Given the description of an element on the screen output the (x, y) to click on. 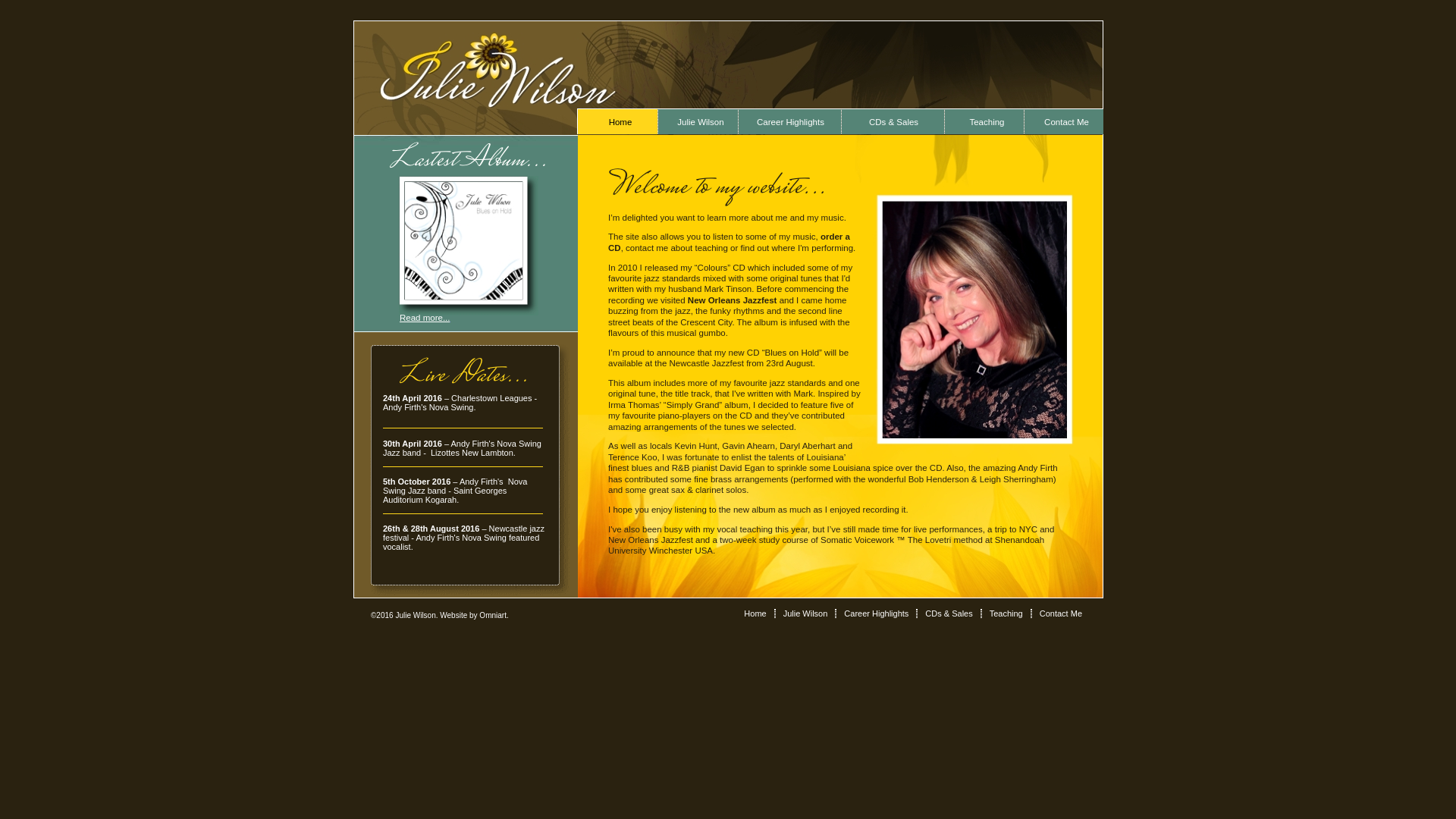
Home Element type: text (754, 613)
Julie Wilson Element type: text (805, 613)
Teaching Element type: text (983, 121)
CDs & Sales Element type: text (948, 613)
CDs & Sales Element type: text (892, 121)
Career Highlights Element type: text (788, 121)
Omniart Element type: text (492, 615)
Contact Me Element type: text (1060, 613)
Julie Wilson Element type: text (697, 121)
Read more... Element type: text (424, 317)
Teaching Element type: text (1006, 613)
Home Element type: text (617, 121)
Contact Me Element type: text (1063, 121)
Career Highlights Element type: text (876, 613)
